Given the description of an element on the screen output the (x, y) to click on. 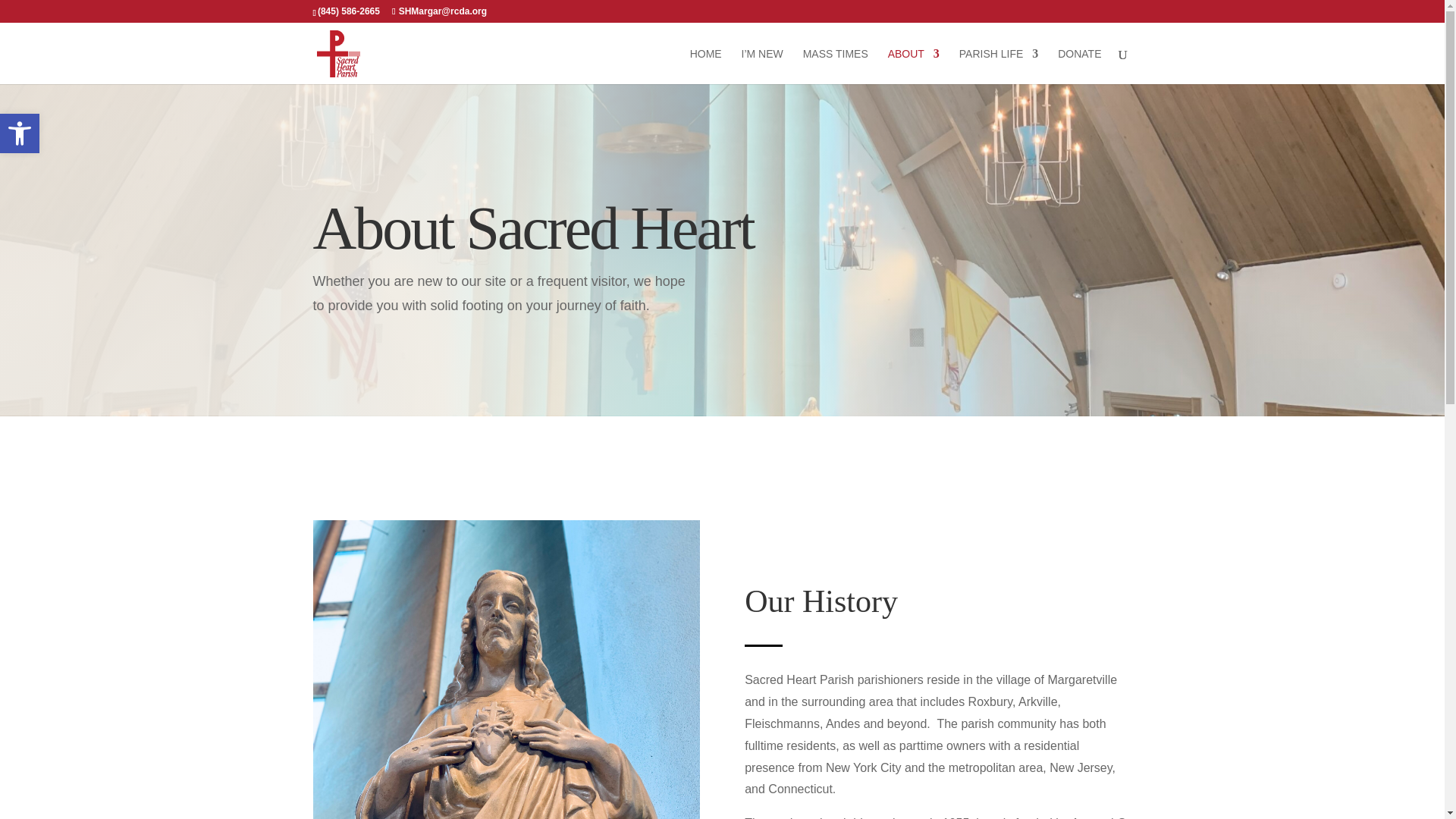
Accessibility Tools (19, 133)
ABOUT (913, 66)
Accessibility Tools (19, 133)
PARISH LIFE (19, 133)
DONATE (999, 66)
HOME (1079, 66)
MASS TIMES (706, 66)
